Given the description of an element on the screen output the (x, y) to click on. 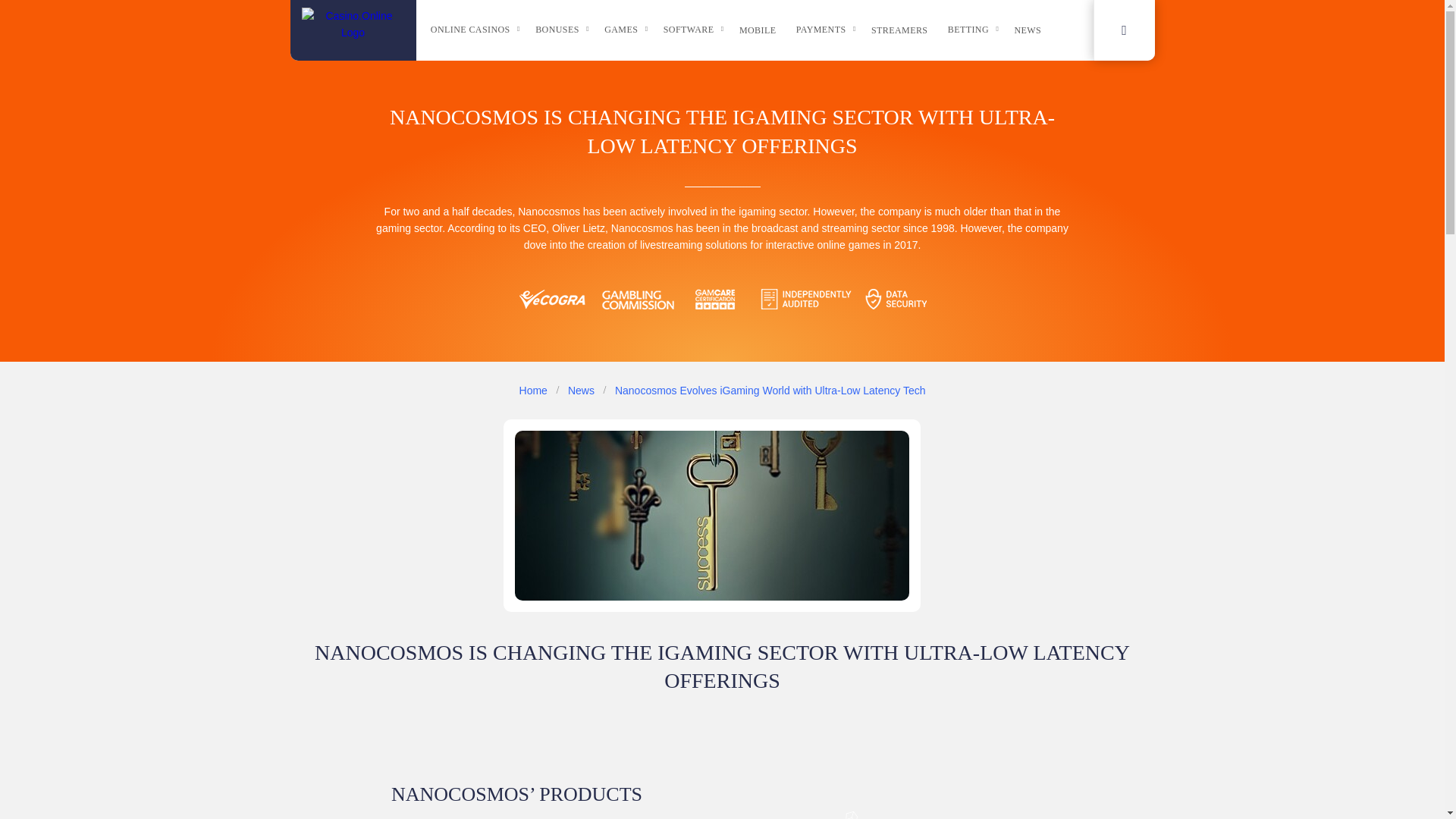
BONUSES (562, 29)
GAMES (625, 29)
ONLINE CASINOS (475, 29)
SOFTWARE (694, 29)
